Given the description of an element on the screen output the (x, y) to click on. 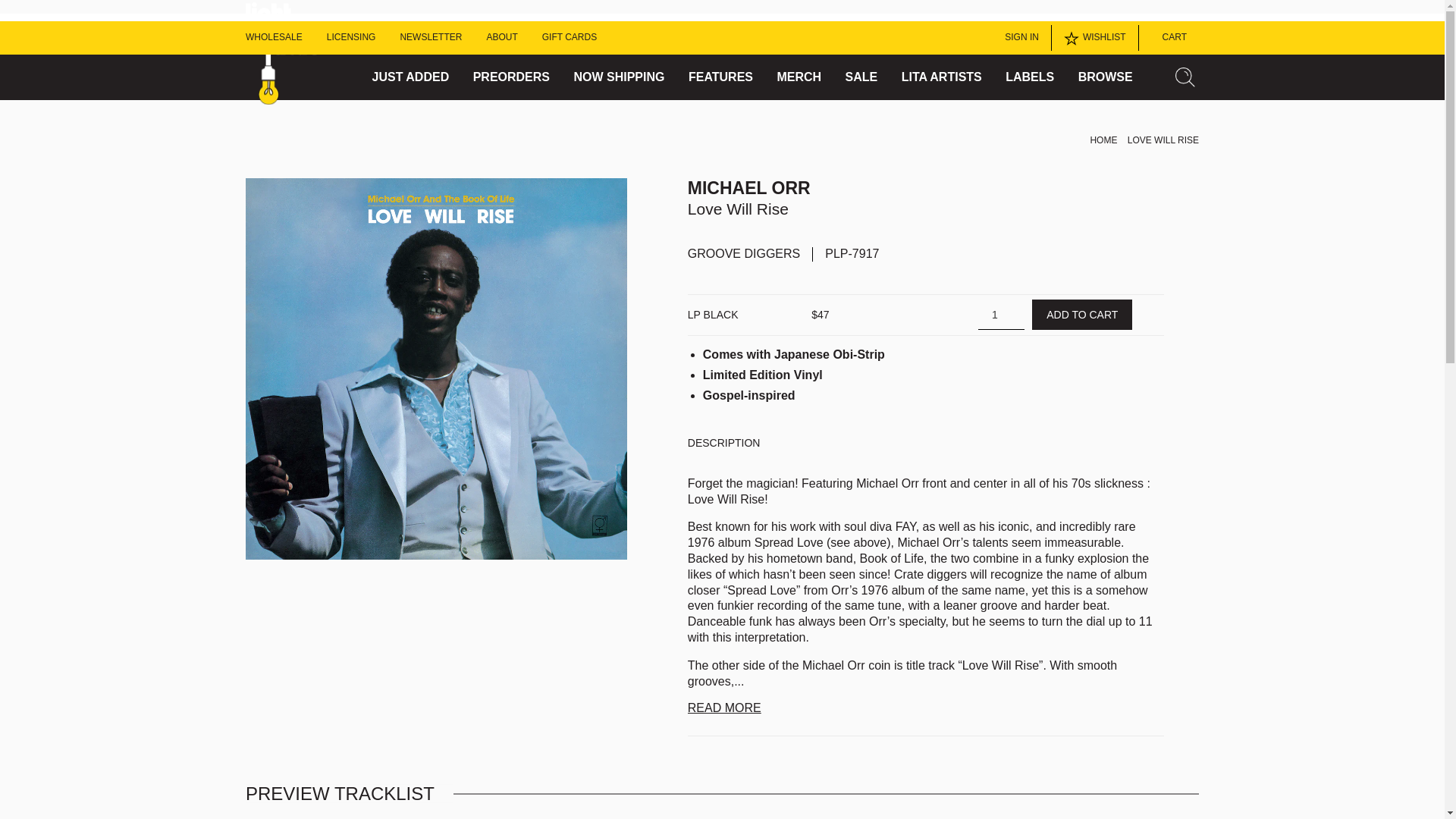
1 (992, 314)
LITA ARTISTS (941, 77)
BROWSE (1105, 77)
ABOUT (501, 37)
JUST ADDED (410, 77)
CART (1168, 37)
WHOLESALE (274, 37)
GIFT CARDS (568, 37)
LABELS (1030, 77)
SIGN IN (1018, 37)
SALE (861, 77)
FEATURES (720, 77)
MERCH (798, 77)
LICENSING (350, 37)
